Given the description of an element on the screen output the (x, y) to click on. 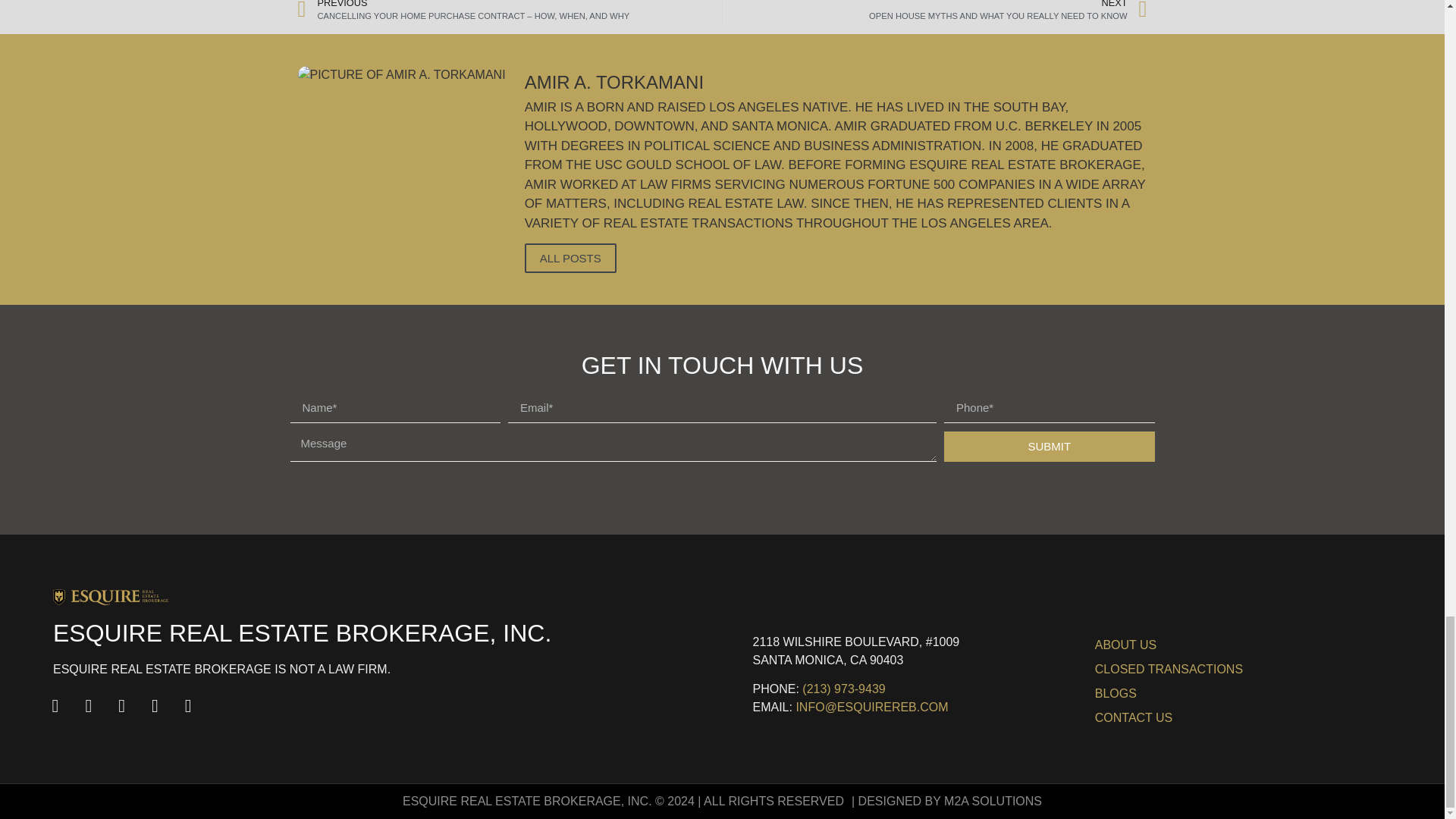
SUBMIT (1048, 446)
ALL POSTS (934, 13)
